Given the description of an element on the screen output the (x, y) to click on. 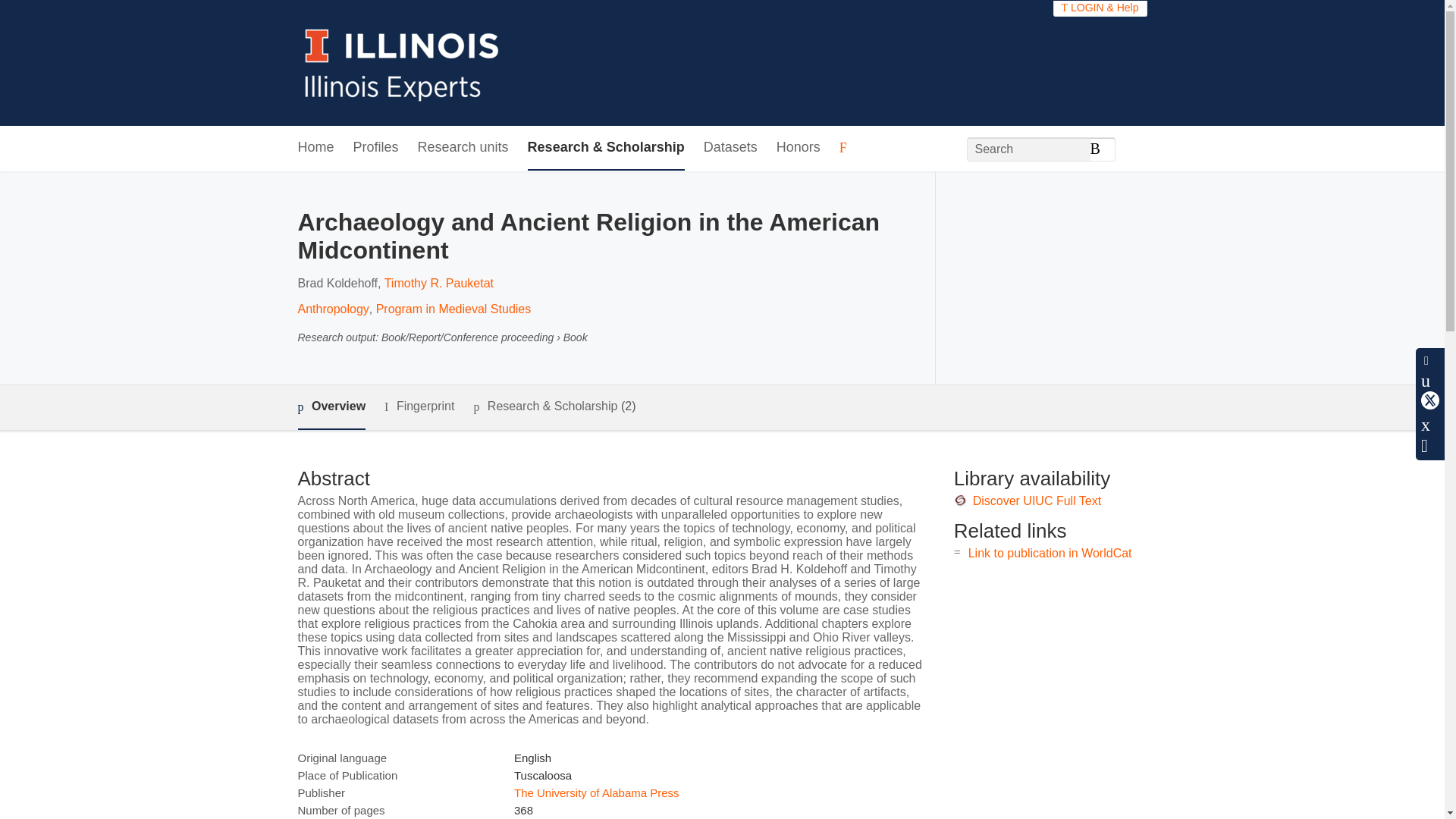
Anthropology (332, 308)
The University of Alabama Press (596, 792)
Overview (331, 406)
Honors (798, 148)
Program in Medieval Studies (453, 308)
Profiles (375, 148)
University of Illinois Urbana-Champaign Home (402, 62)
Research units (462, 148)
Link to publication in WorldCat (1050, 553)
Home (315, 148)
Datasets (730, 148)
Discover UIUC Full Text (1037, 500)
Fingerprint (419, 406)
Timothy R. Pauketat (438, 282)
